Given the description of an element on the screen output the (x, y) to click on. 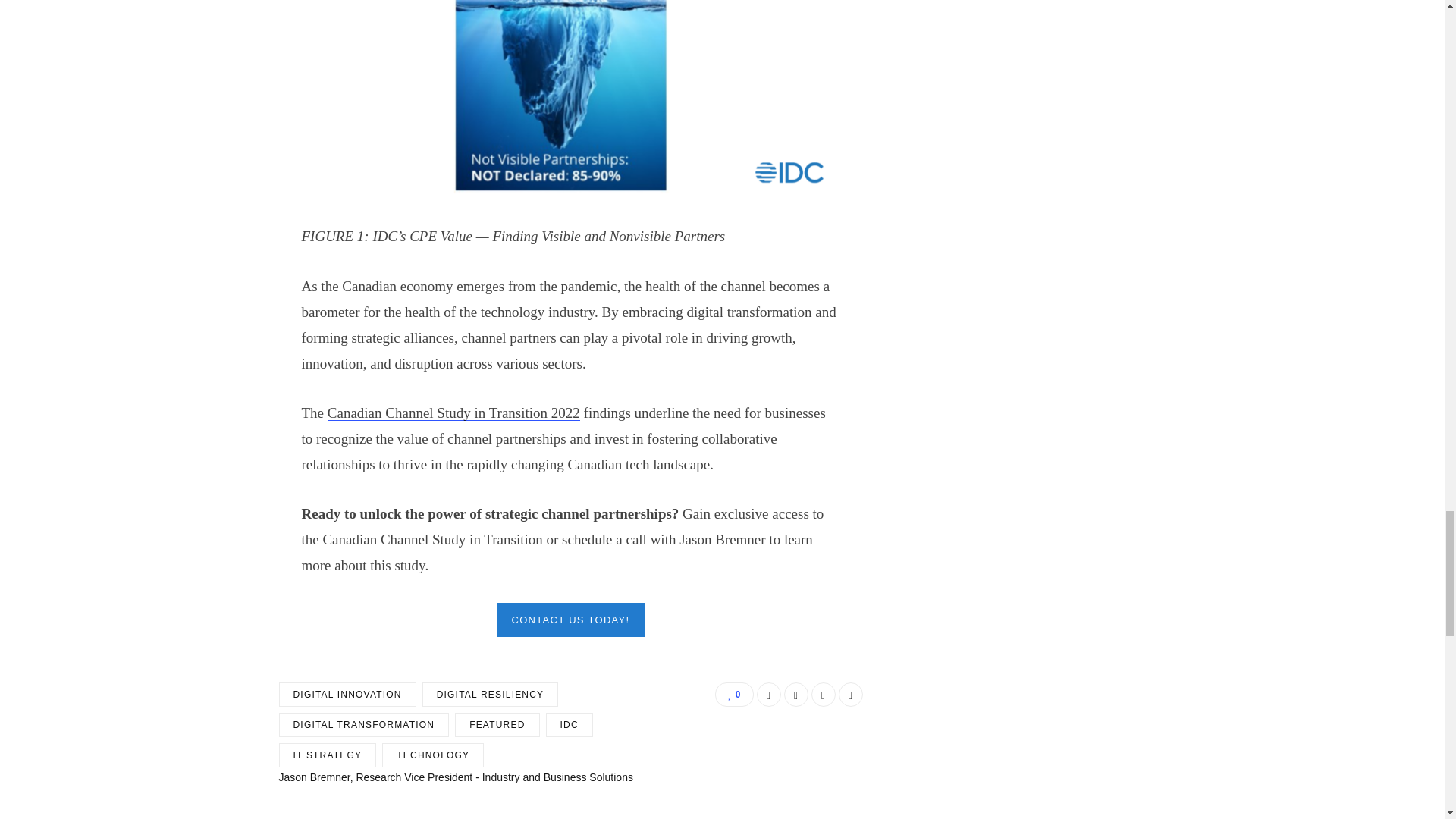
DIGITAL RESILIENCY (490, 694)
DIGITAL INNOVATION (347, 694)
Share on Twitter (796, 694)
0 (733, 694)
CONTACT US TODAY! (570, 619)
IT STRATEGY (328, 754)
Canadian Channel Study in Transition 2022 (453, 412)
FEATURED (496, 724)
IDC (569, 724)
Share on Facebook (768, 694)
DIGITAL TRANSFORMATION (364, 724)
TECHNOLOGY (432, 754)
